Given the description of an element on the screen output the (x, y) to click on. 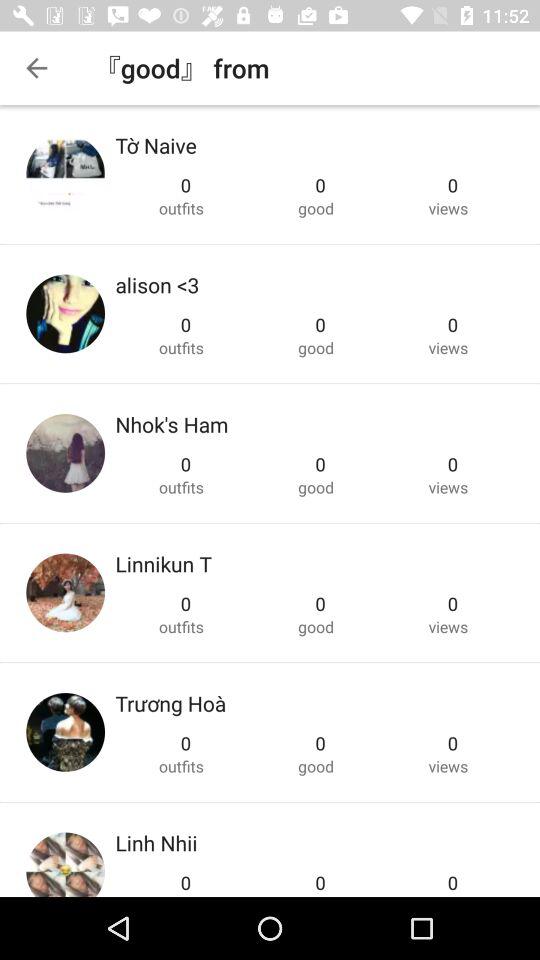
click the icon below the outfits item (156, 842)
